Given the description of an element on the screen output the (x, y) to click on. 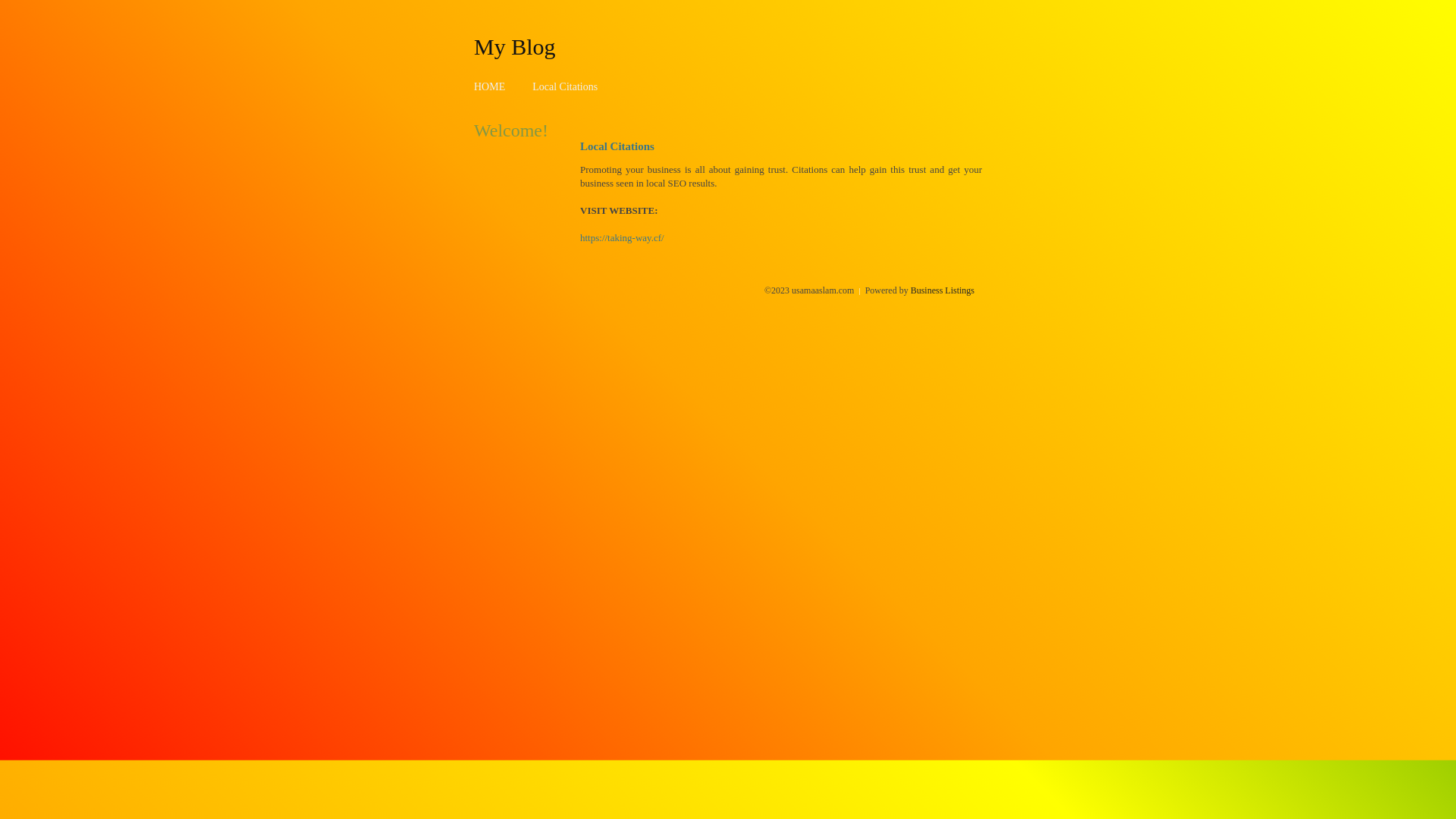
Business Listings Element type: text (942, 290)
My Blog Element type: text (514, 46)
https://taking-way.cf/ Element type: text (622, 237)
HOME Element type: text (489, 86)
Local Citations Element type: text (564, 86)
